Given the description of an element on the screen output the (x, y) to click on. 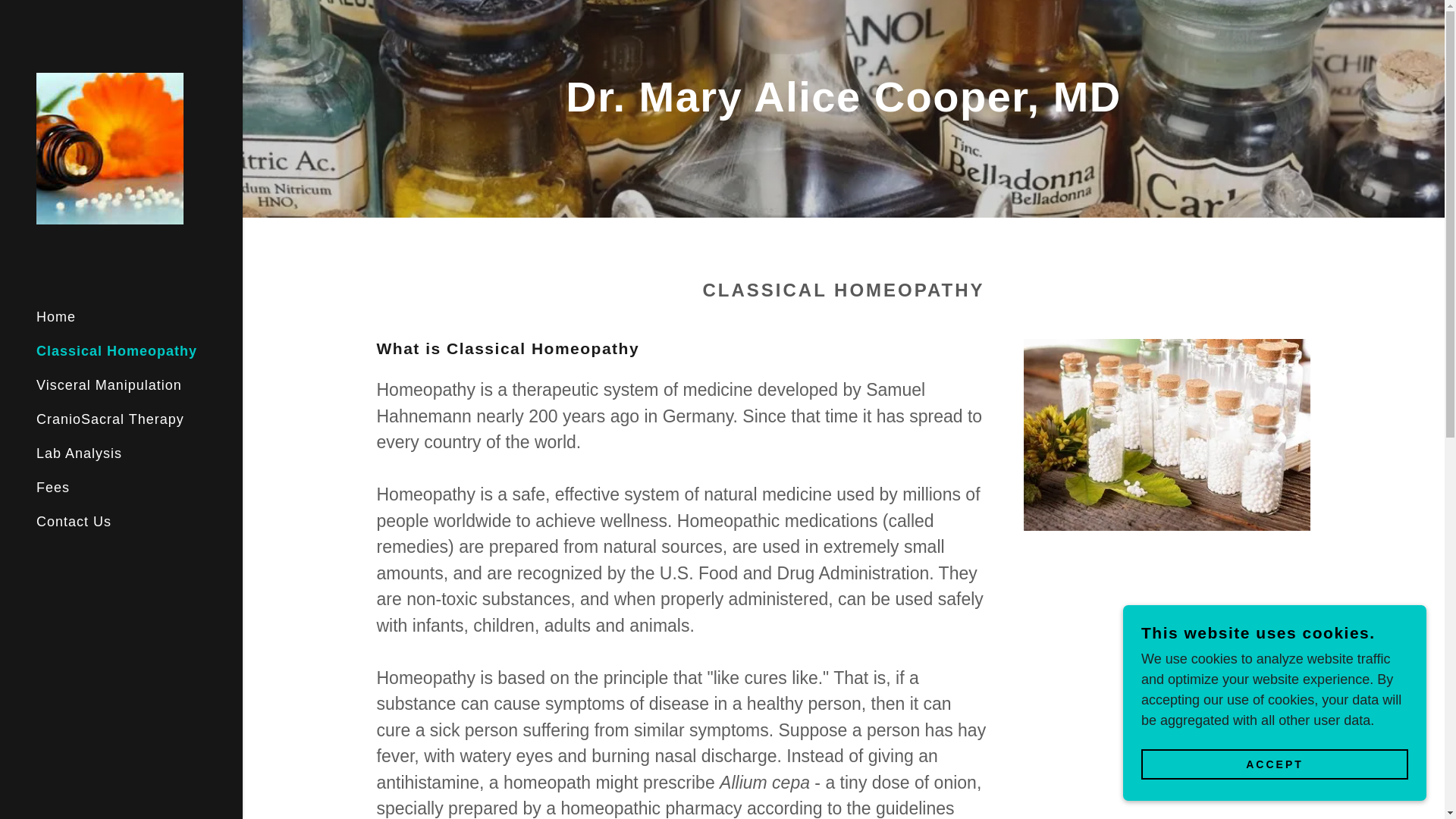
Home (55, 316)
Lab Analysis (79, 453)
ACCEPT (109, 147)
Fees (1274, 764)
Contact Us (52, 487)
Visceral Manipulation (74, 521)
Classical Homeopathy (109, 385)
CranioSacral Therapy (116, 350)
